Given the description of an element on the screen output the (x, y) to click on. 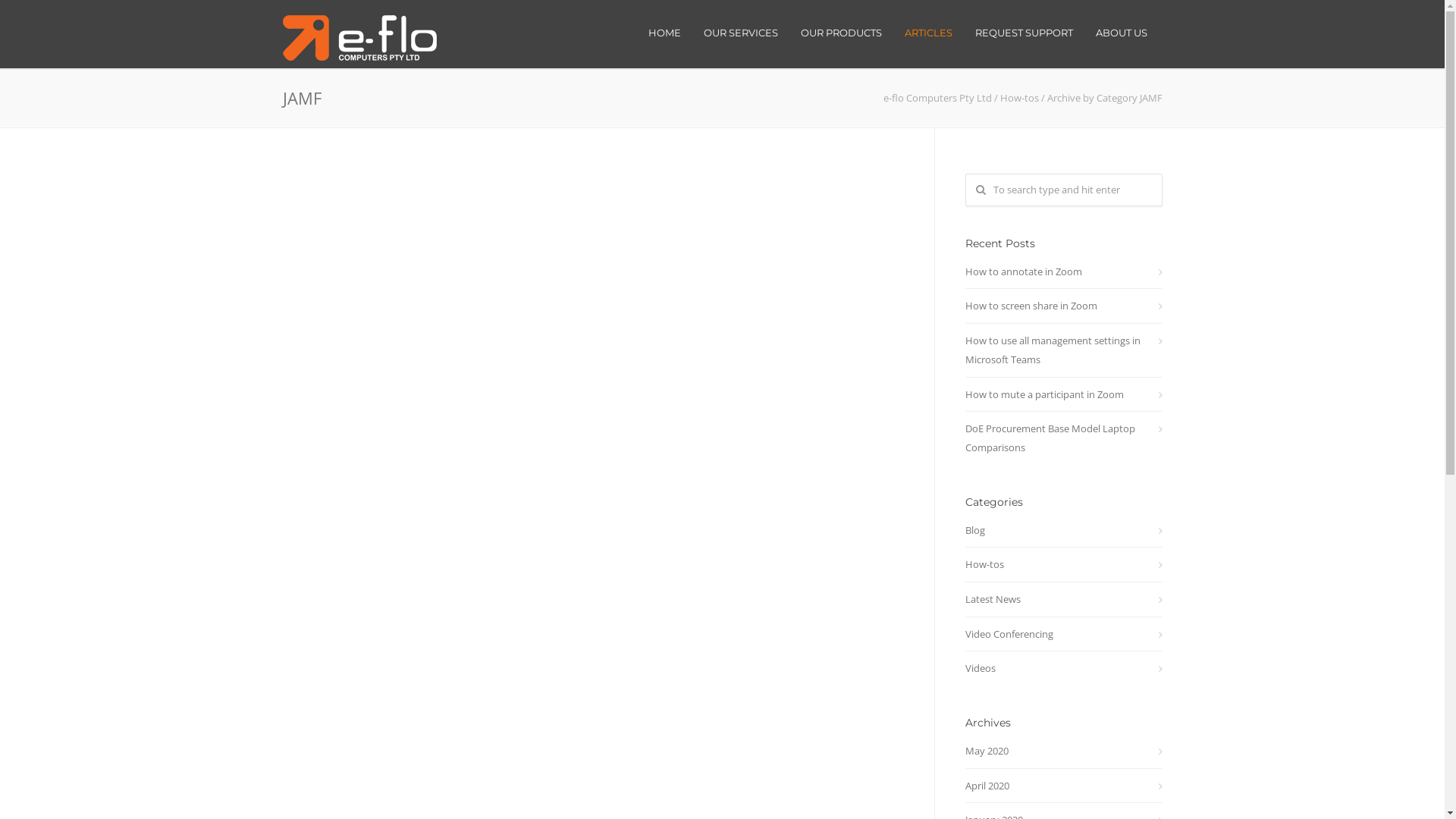
OUR SERVICES Element type: text (739, 32)
Videos Element type: text (1062, 667)
How to use all management settings in Microsoft Teams Element type: text (1062, 349)
DoE Procurement Base Model Laptop Comparisons Element type: text (1062, 437)
May 2020 Element type: text (1062, 750)
Latest News Element type: text (1062, 598)
Blog Element type: text (1062, 529)
REQUEST SUPPORT Element type: text (1023, 32)
OUR PRODUCTS Element type: text (840, 32)
Video Conferencing Element type: text (1062, 633)
ARTICLES Element type: text (928, 32)
How to screen share in Zoom Element type: text (1062, 305)
How-tos Element type: text (1018, 97)
e-flo Computers Pty Ltd Element type: text (936, 97)
HOME Element type: text (664, 32)
ABOUT US Element type: text (1121, 32)
Search Element type: text (40, 16)
How to annotate in Zoom Element type: text (1062, 271)
How to mute a participant in Zoom Element type: text (1062, 394)
April 2020 Element type: text (1062, 785)
How-tos Element type: text (1062, 564)
